Given the description of an element on the screen output the (x, y) to click on. 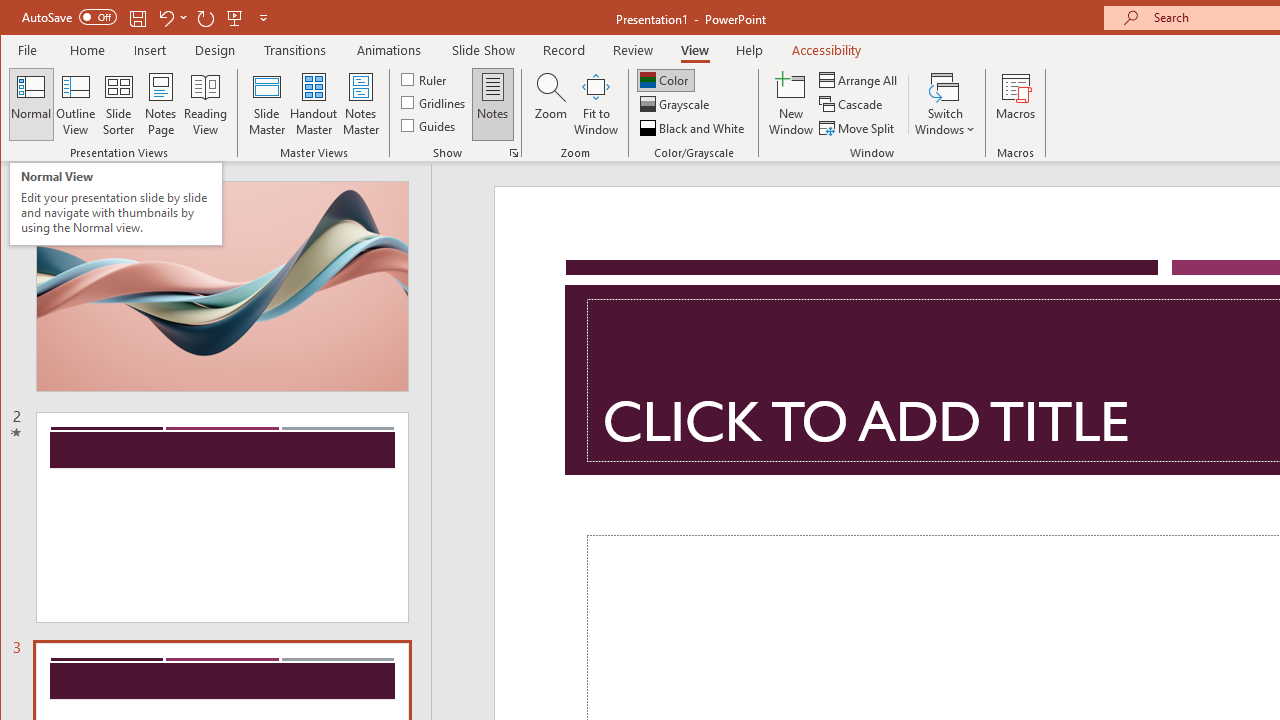
New Window (791, 104)
Macros (1016, 104)
Handout Master (314, 104)
Notes Page (160, 104)
Guides (430, 124)
Slide Master (266, 104)
Cascade (852, 103)
